Given the description of an element on the screen output the (x, y) to click on. 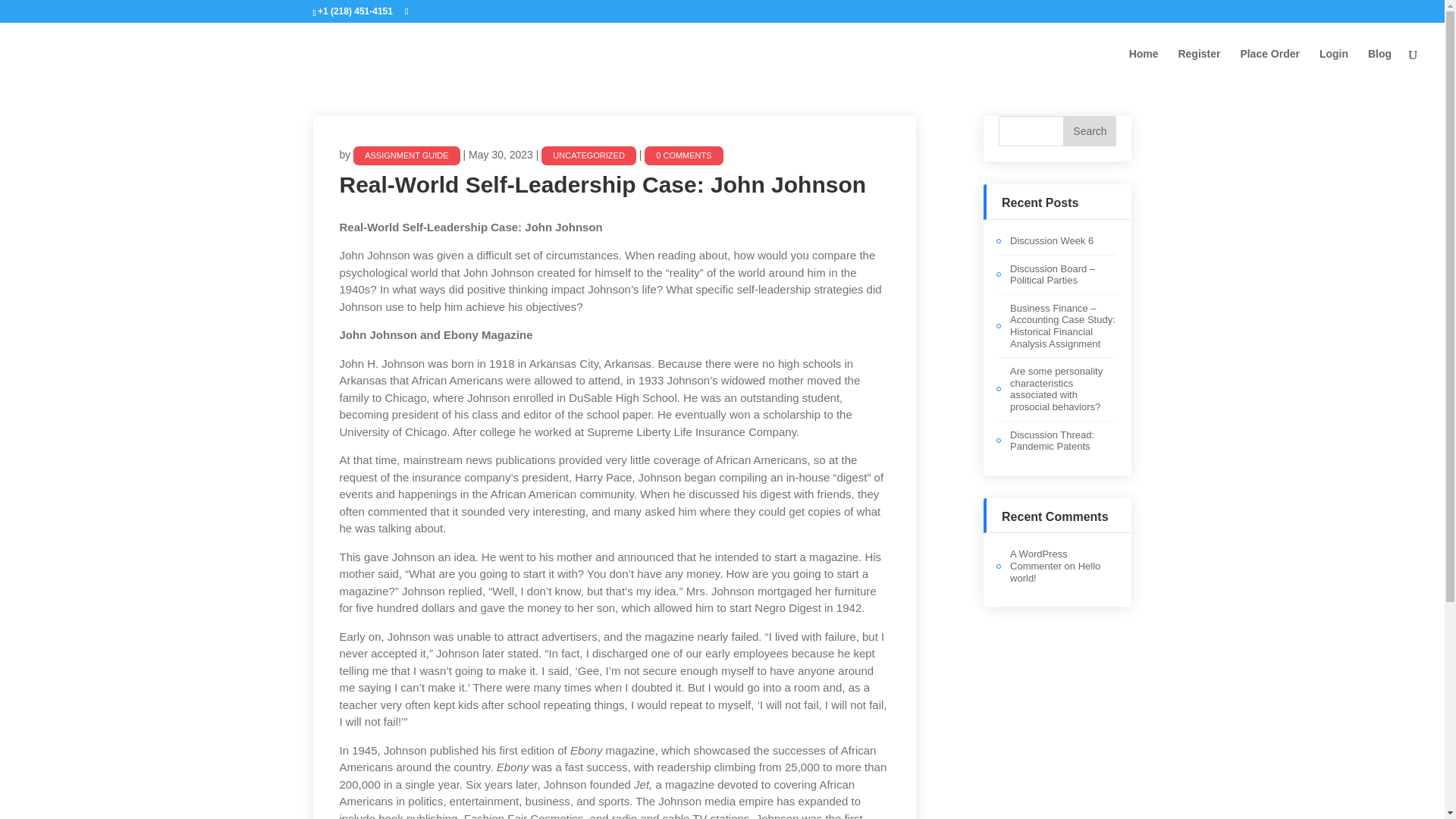
UNCATEGORIZED (779, 249)
ASSIGNMENT GUIDE (406, 155)
Search (1089, 131)
Place Order (1270, 66)
Discussion Week 6 (1051, 240)
ASSIGNMENT GUIDE (597, 249)
0 COMMENTS (874, 249)
UNCATEGORIZED (588, 155)
A WordPress Commenter (1038, 559)
Hello world! (1055, 571)
Posts by Assignment Guide (406, 155)
Register (1198, 66)
Posts by Assignment Guide (597, 249)
0 COMMENTS (683, 155)
